Given the description of an element on the screen output the (x, y) to click on. 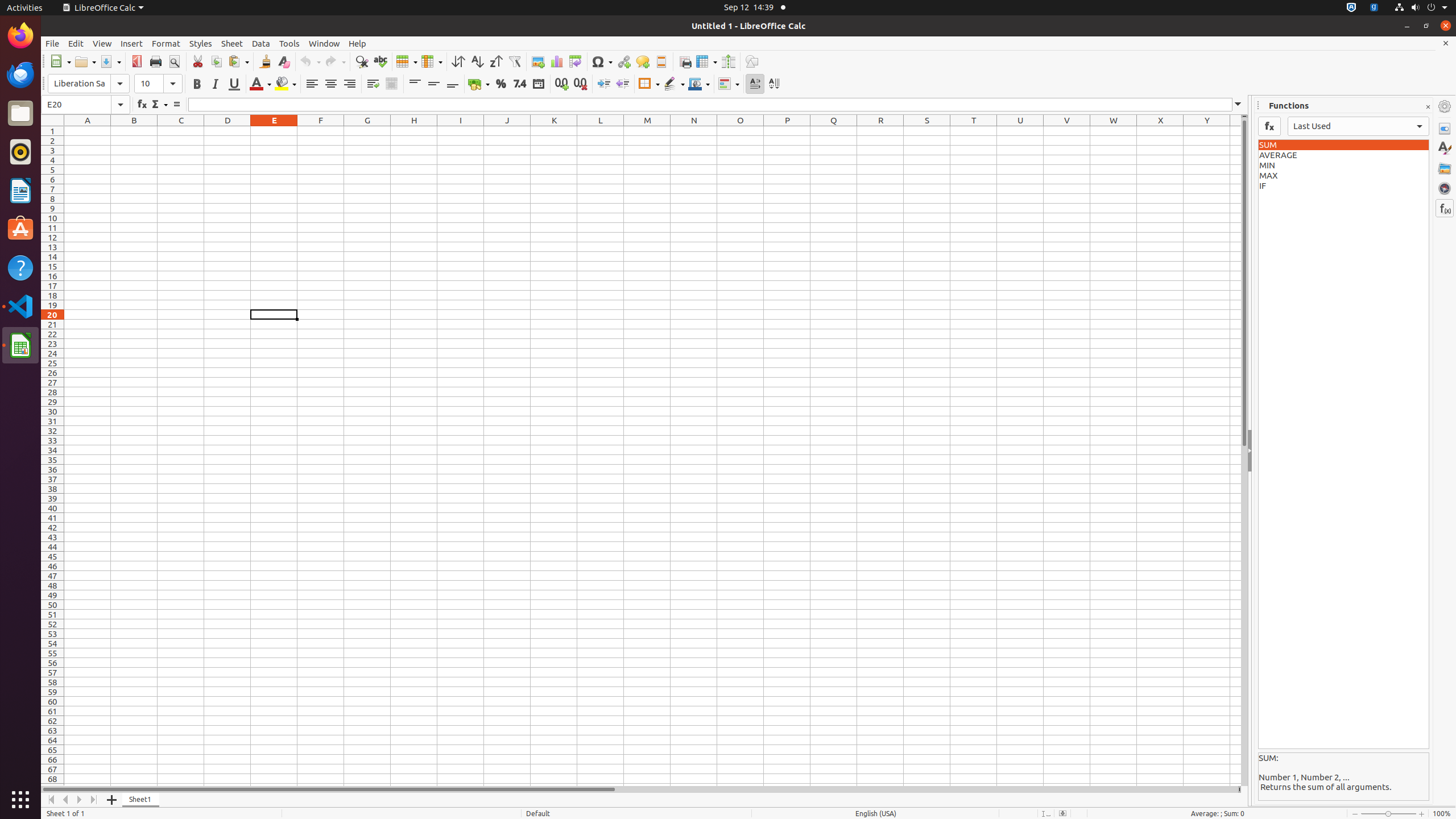
AVERAGE Element type: list-item (1343, 155)
Date Element type: push-button (537, 83)
Close Sidebar Deck Element type: push-button (1427, 106)
LibreOffice Calc Element type: menu (102, 7)
Move To Home Element type: push-button (51, 799)
